Given the description of an element on the screen output the (x, y) to click on. 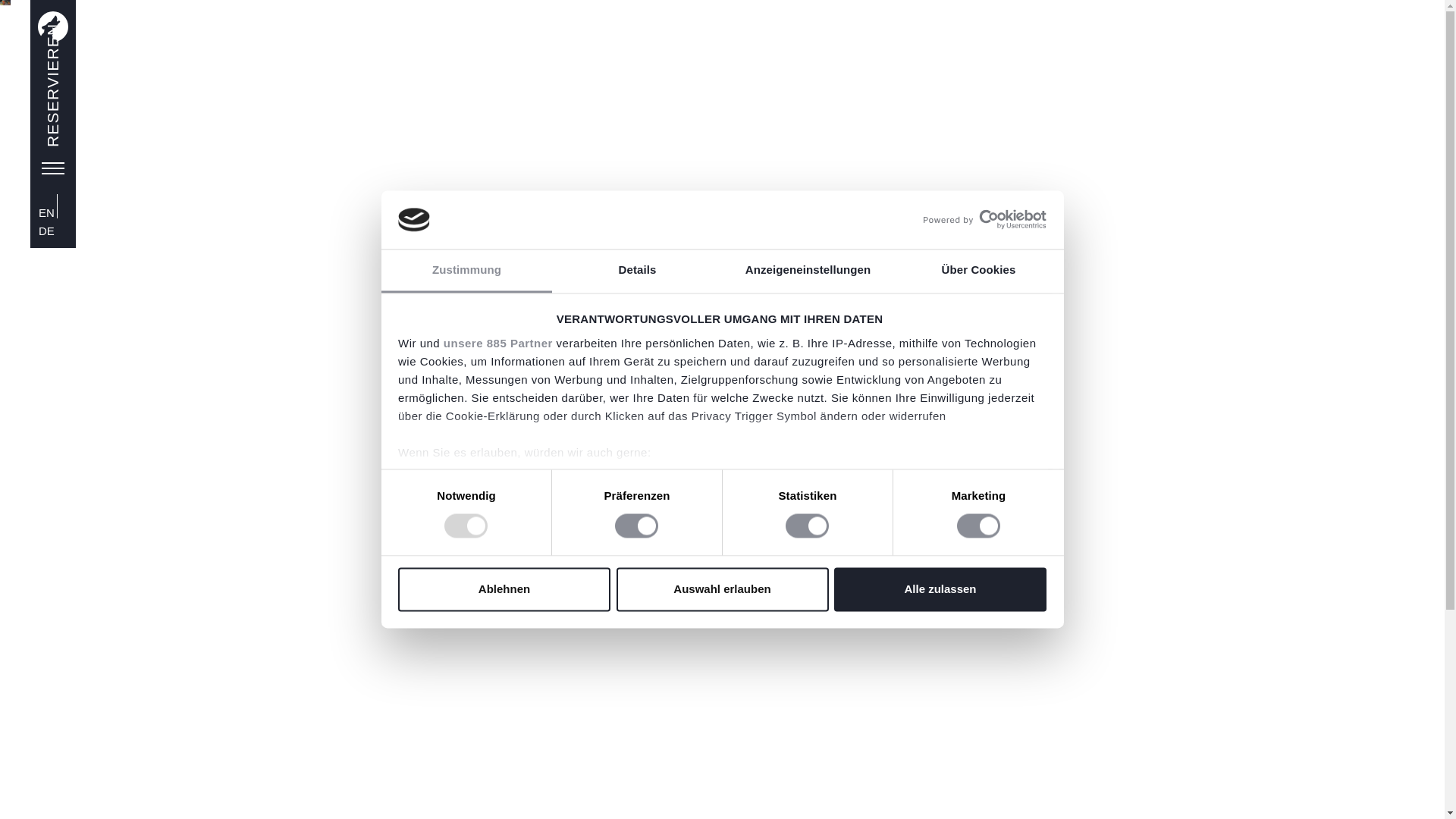
Zustimmung (465, 270)
Abschnitt Einzelheiten (462, 530)
Details (636, 270)
unsere 885 Partner (498, 342)
Anzeigeneinstellungen (807, 270)
